Given the description of an element on the screen output the (x, y) to click on. 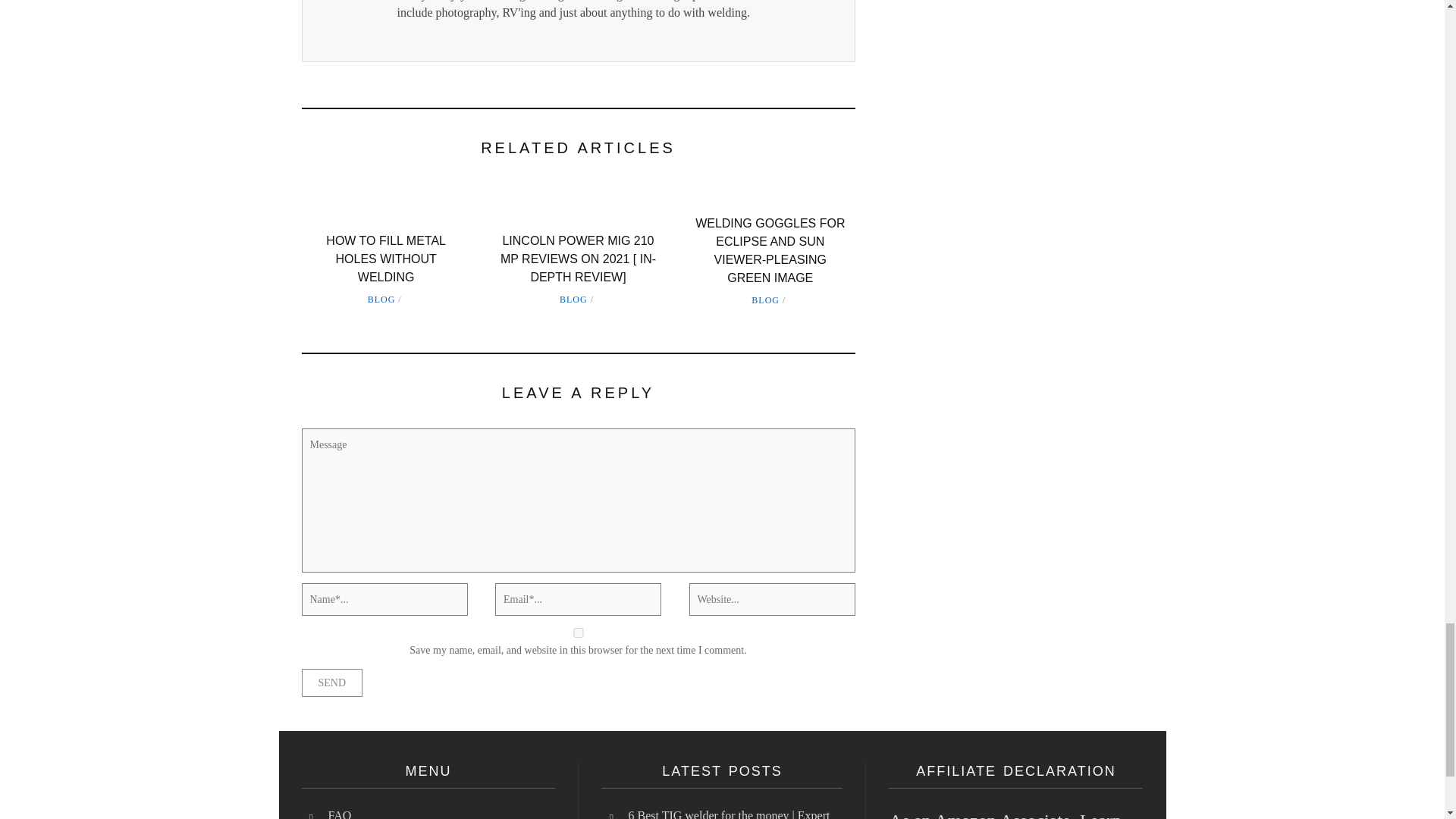
yes (578, 633)
Send (331, 682)
HOW TO FILL METAL HOLES WITHOUT WELDING (385, 257)
